Given the description of an element on the screen output the (x, y) to click on. 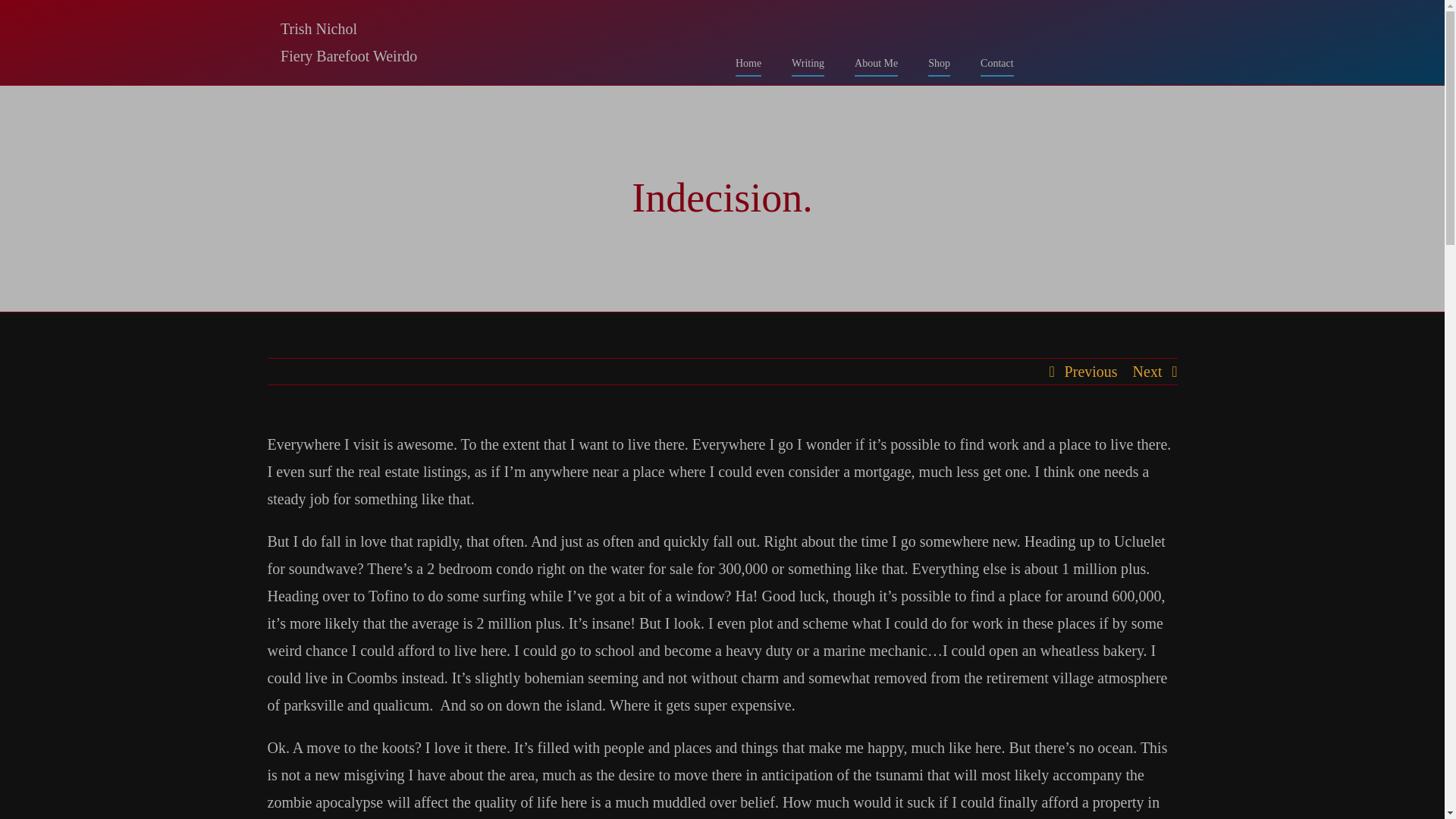
Next (1146, 371)
Previous (1091, 371)
Writing (808, 60)
About Me (876, 60)
Contact (996, 60)
